Given the description of an element on the screen output the (x, y) to click on. 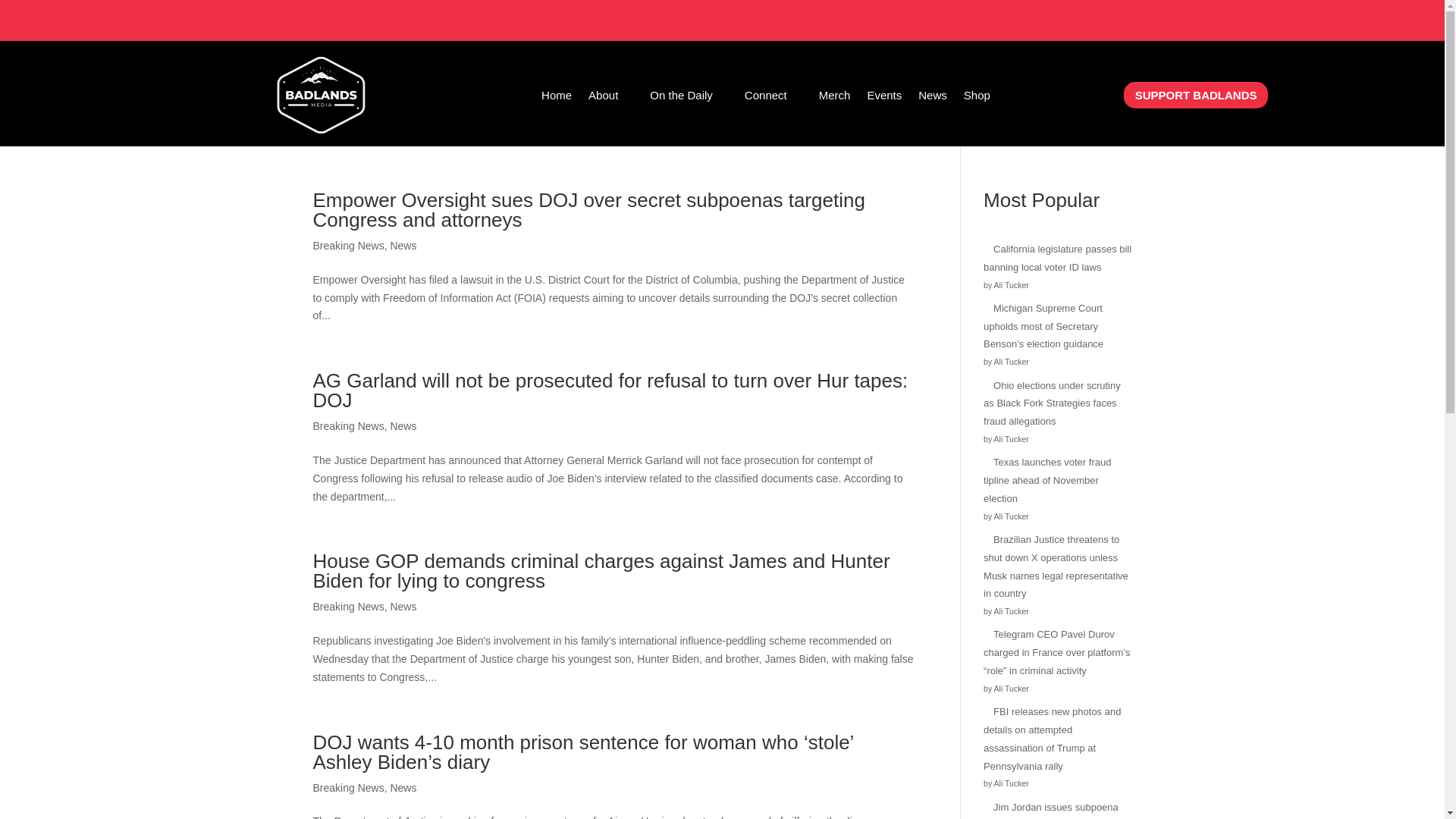
Breaking News (348, 787)
News (403, 426)
Events (883, 97)
About (610, 97)
Connect (773, 97)
Breaking News (348, 245)
News (403, 606)
Merch (834, 97)
